Given the description of an element on the screen output the (x, y) to click on. 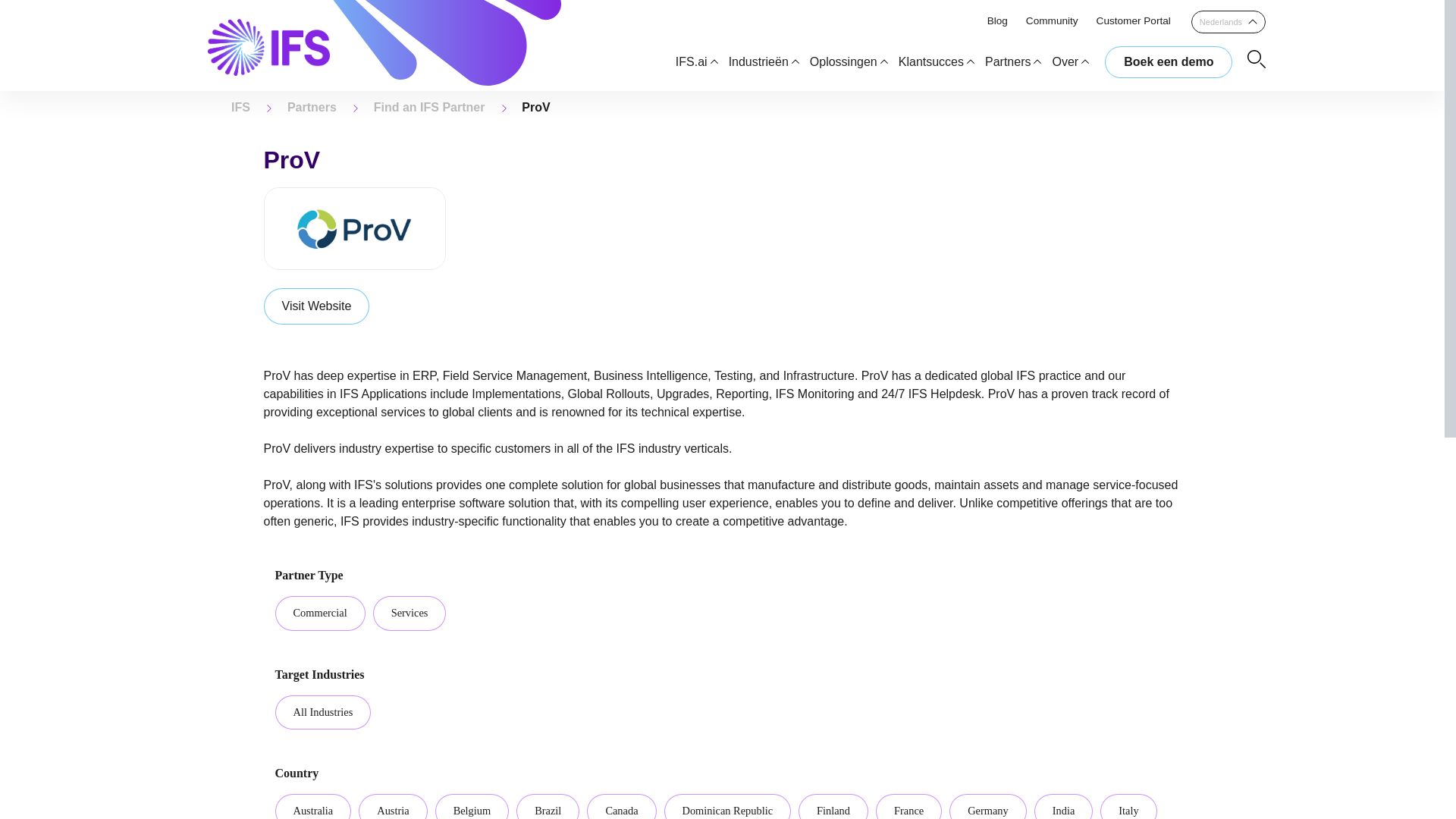
Dominican Republic (727, 806)
Partners (311, 106)
India (1063, 806)
Home (240, 106)
France (909, 806)
Austria (392, 806)
Germany (987, 806)
Brazil (547, 806)
Services (409, 613)
Canada (621, 806)
